Given the description of an element on the screen output the (x, y) to click on. 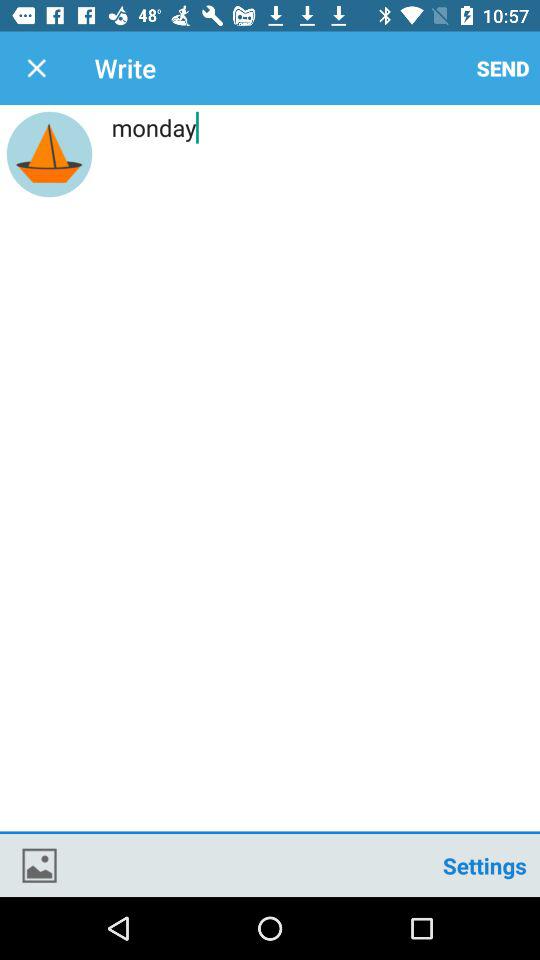
click icon at the bottom right corner (484, 864)
